Given the description of an element on the screen output the (x, y) to click on. 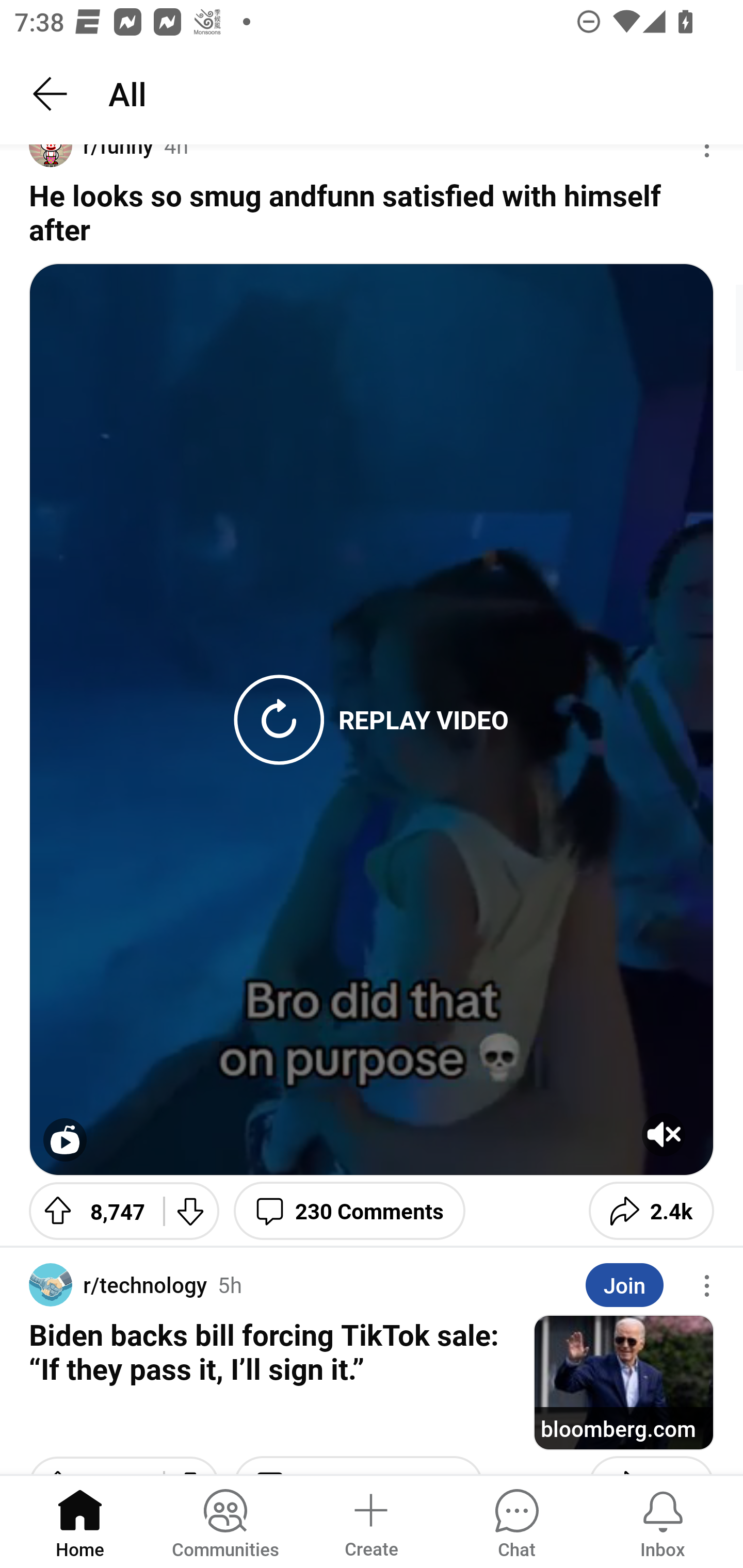
Replay Video REPLAY VIDEO Unmute (371, 719)
Replay Video (278, 719)
REPLAY VIDEO (423, 719)
Unmute (663, 1135)
Full screen video (64, 1139)
Upvote 8,747 (88, 1210)
Downvote (191, 1210)
230 Comments (349, 1210)
Share 2.4k (651, 1210)
Avatar r/technology (117, 1283)
Join (624, 1284)
Overflow menu (706, 1285)
Thumbnail image bloomberg.com (623, 1381)
Home (80, 1520)
Communities (225, 1520)
Create a post Create (370, 1520)
Chat (516, 1520)
Inbox (662, 1520)
